Given the description of an element on the screen output the (x, y) to click on. 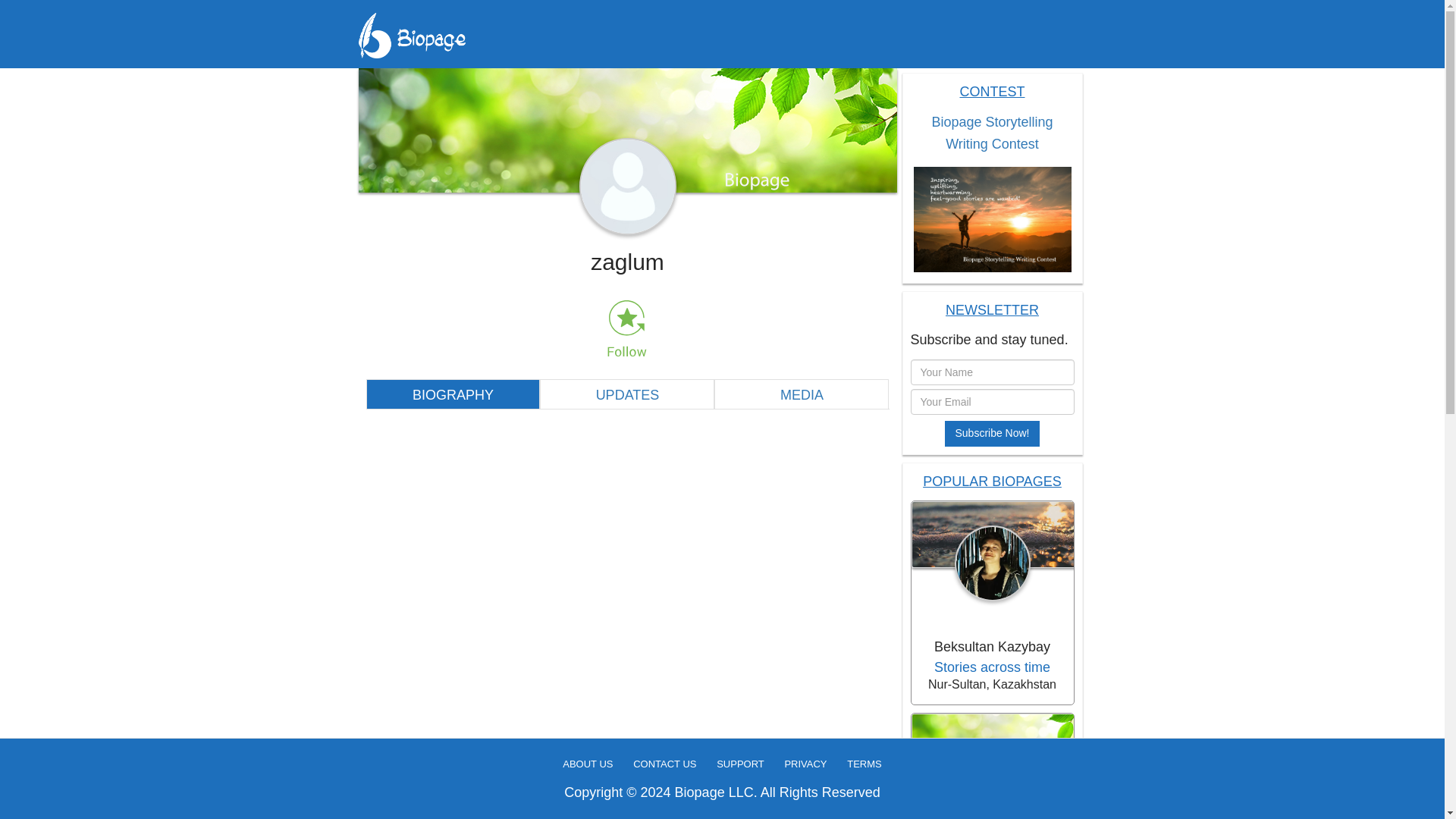
UPDATES (627, 394)
Biography (452, 394)
Subscribe Now! (991, 433)
SUPPORT (740, 763)
BIOGRAPHY (452, 394)
CONTACT US (664, 763)
ABOUT US (587, 763)
Subscribe Now! (991, 433)
MEDIA (801, 394)
TERMS (864, 763)
Media (801, 394)
Beksultan Kazybay (991, 647)
PRIVACY (805, 763)
Updates (627, 394)
Biopage Storytelling Writing Contest (991, 133)
